Given the description of an element on the screen output the (x, y) to click on. 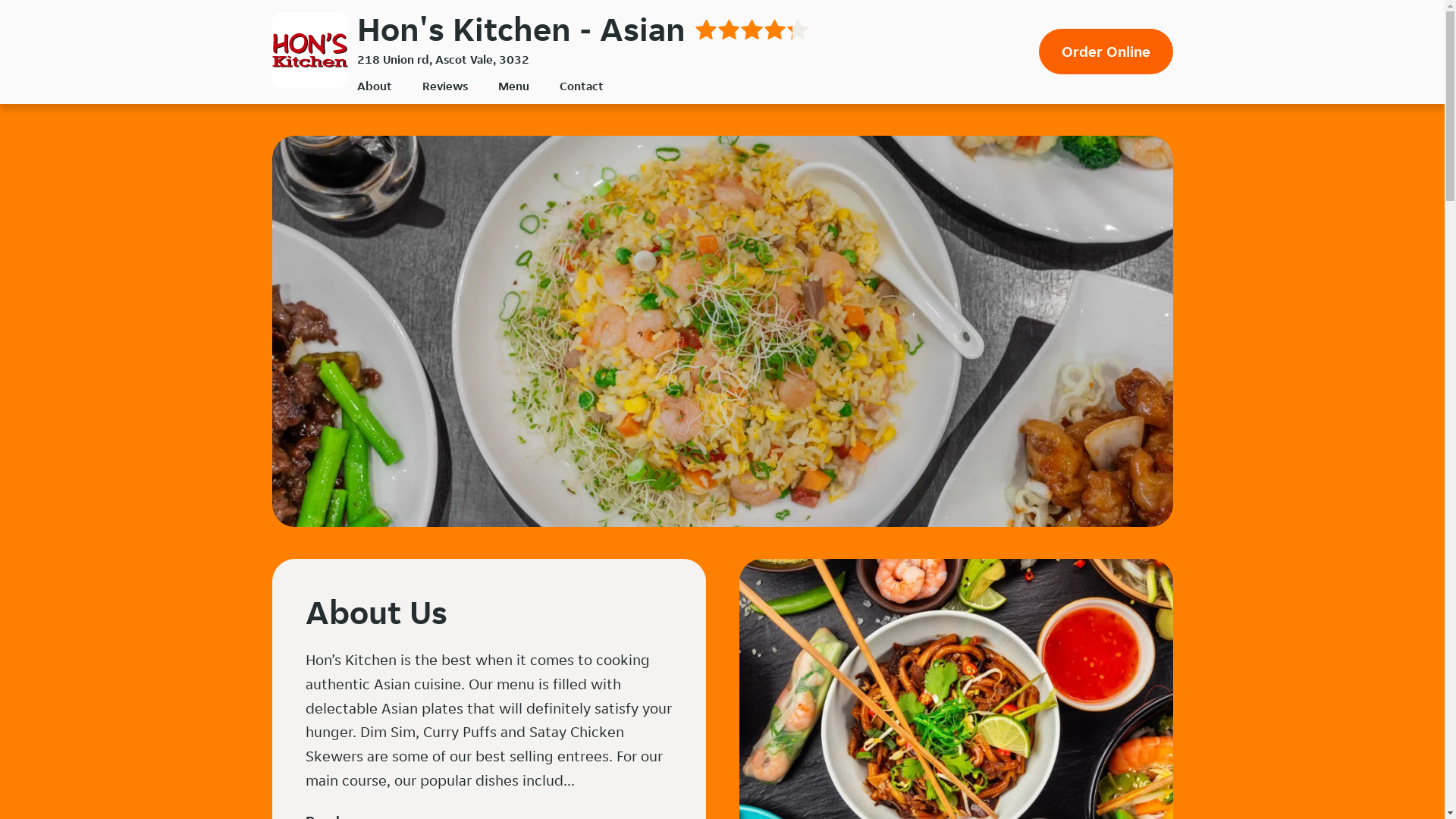
Hon's Kitchen Element type: hover (309, 49)
Contact Element type: text (581, 86)
Reviews Element type: text (444, 86)
Menu Element type: text (512, 86)
Order Online Element type: text (1105, 51)
About Element type: text (373, 86)
